Given the description of an element on the screen output the (x, y) to click on. 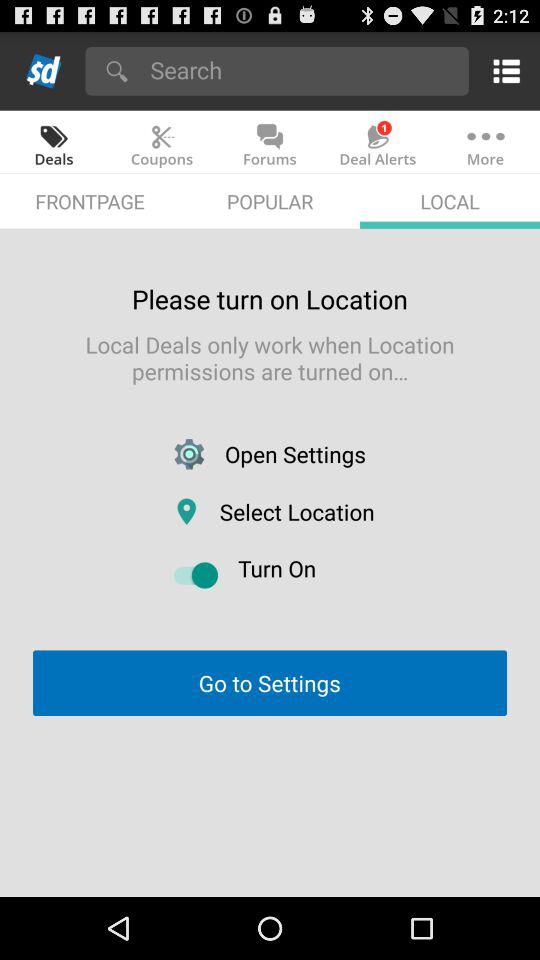
click detail option (502, 70)
